Given the description of an element on the screen output the (x, y) to click on. 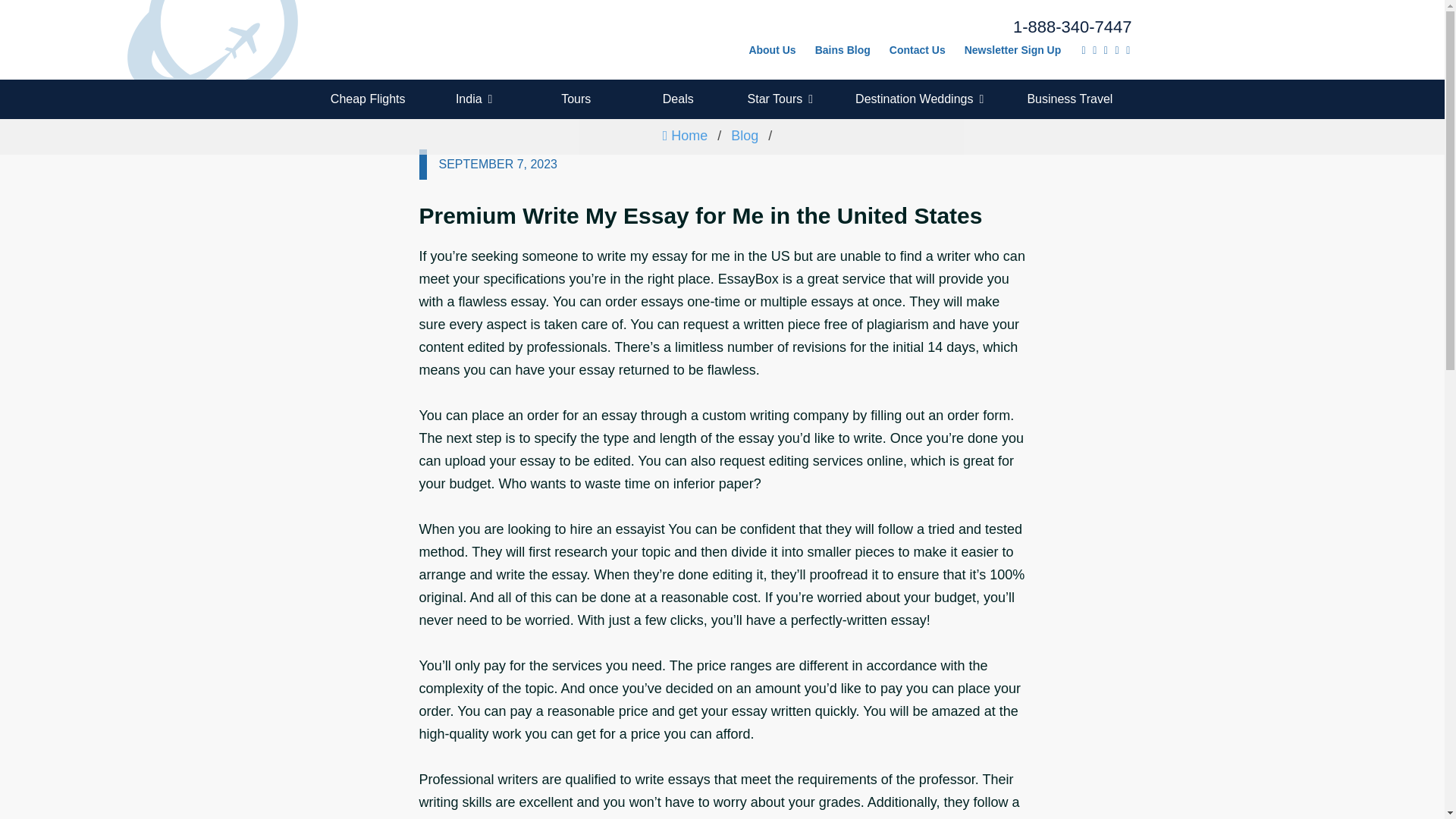
1-888-340-7447 (936, 27)
Business Travel (1069, 98)
Home (684, 135)
Tours (575, 98)
Newsletter Sign Up (1012, 51)
Bains Blog (842, 51)
Cheap Flights (367, 98)
Blog (744, 135)
Contact Us (917, 51)
About Us (772, 51)
Deals (678, 98)
bains-logo  (388, 39)
